Given the description of an element on the screen output the (x, y) to click on. 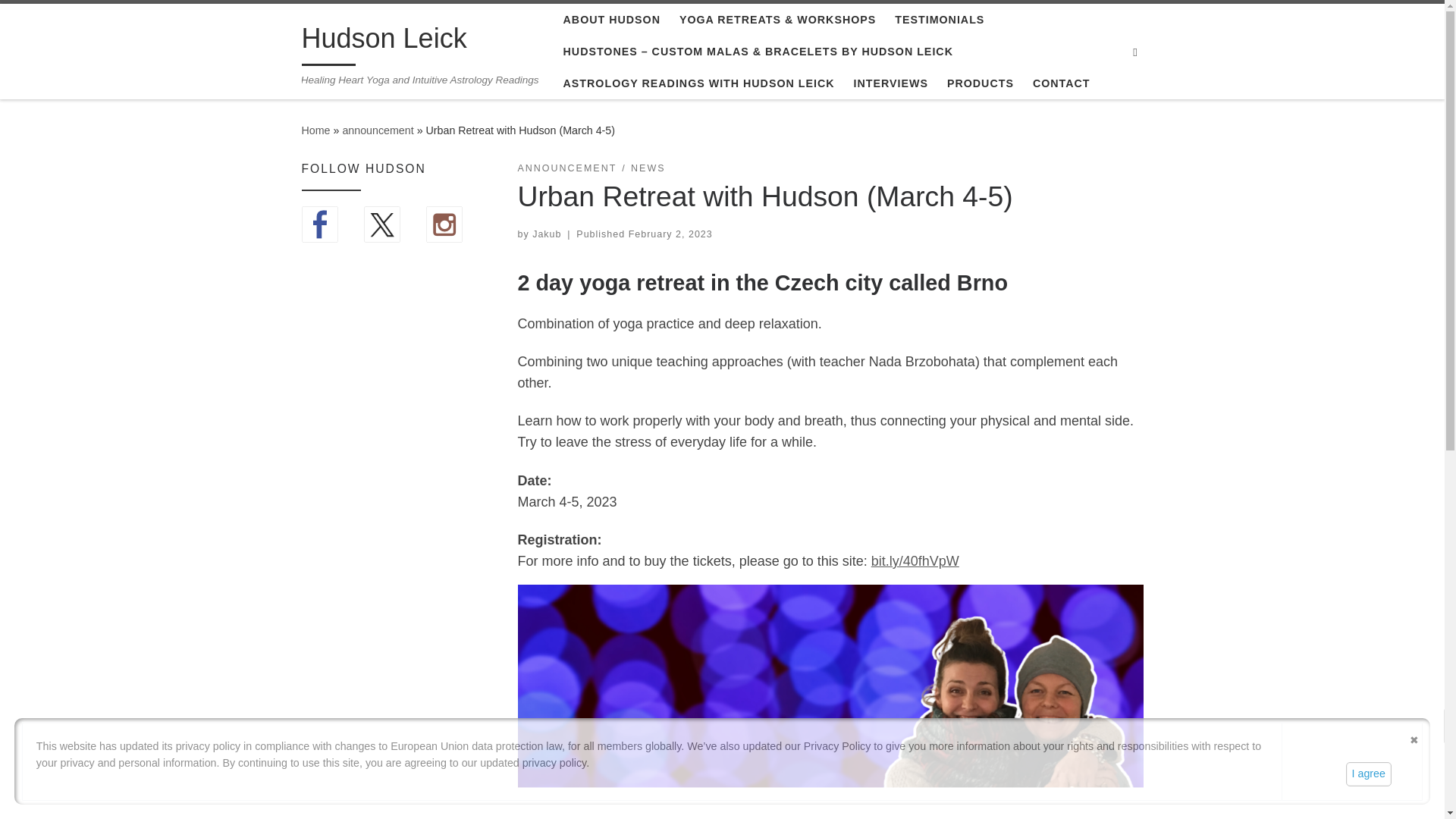
Hudson Leick (384, 42)
announcement (377, 130)
Follow Hudson on Instagram (444, 224)
Hudson Leick (315, 130)
Follow Hudson (382, 224)
CONTACT (1060, 83)
ASTROLOGY READINGS WITH HUDSON LEICK (697, 83)
View all posts in news (647, 168)
Jakub (546, 234)
INTERVIEWS (890, 83)
